Given the description of an element on the screen output the (x, y) to click on. 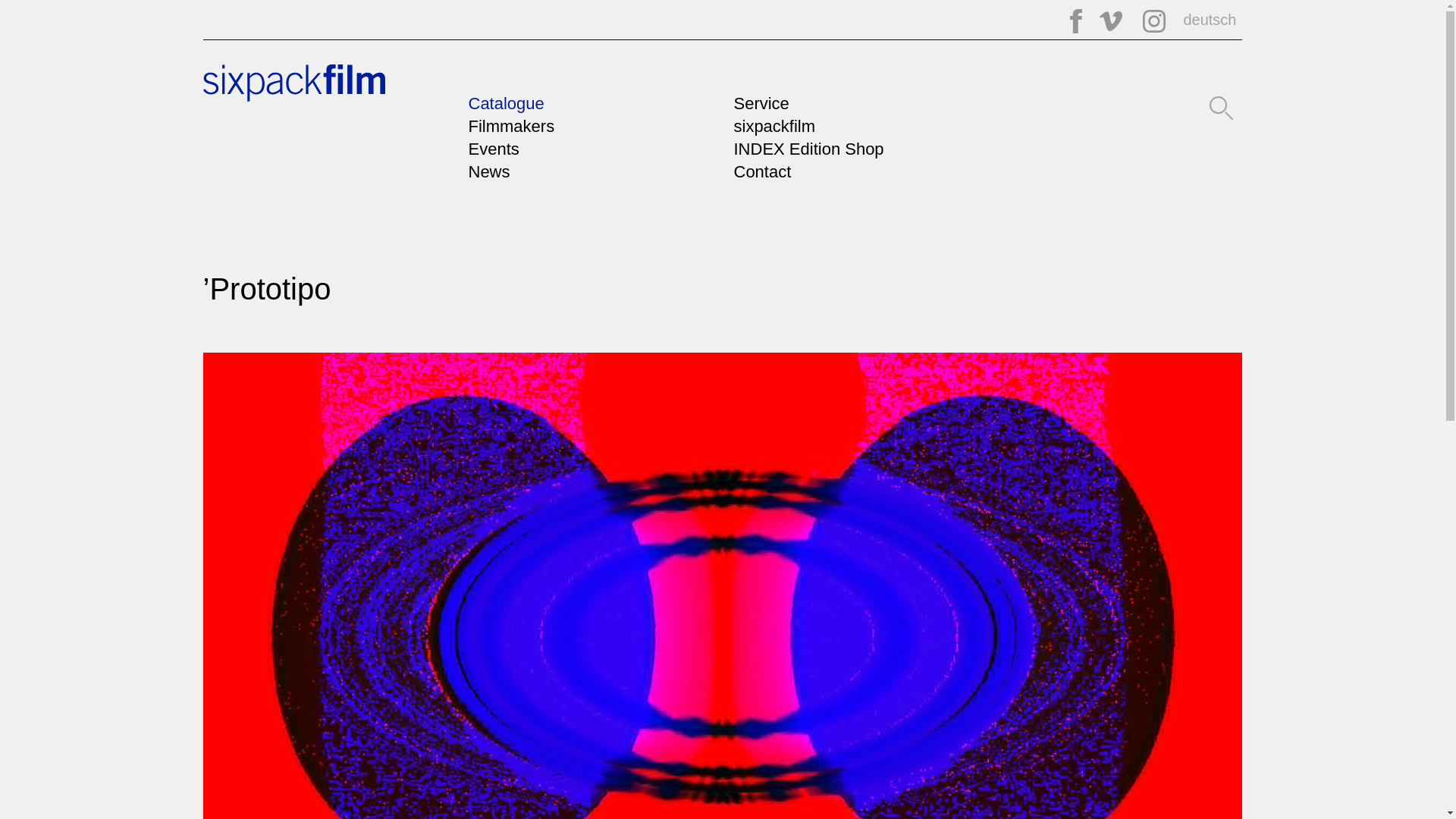
Events (493, 148)
sixpackfilm (294, 95)
Catalogue (506, 103)
Sprache wechseln: Deutsch (1202, 19)
deutsch (1202, 19)
Service (761, 103)
Contact (762, 171)
Filmmakers (511, 126)
INDEX Edition Shop (808, 148)
sixpackfilm (774, 126)
News (489, 171)
Search (1220, 106)
